Given the description of an element on the screen output the (x, y) to click on. 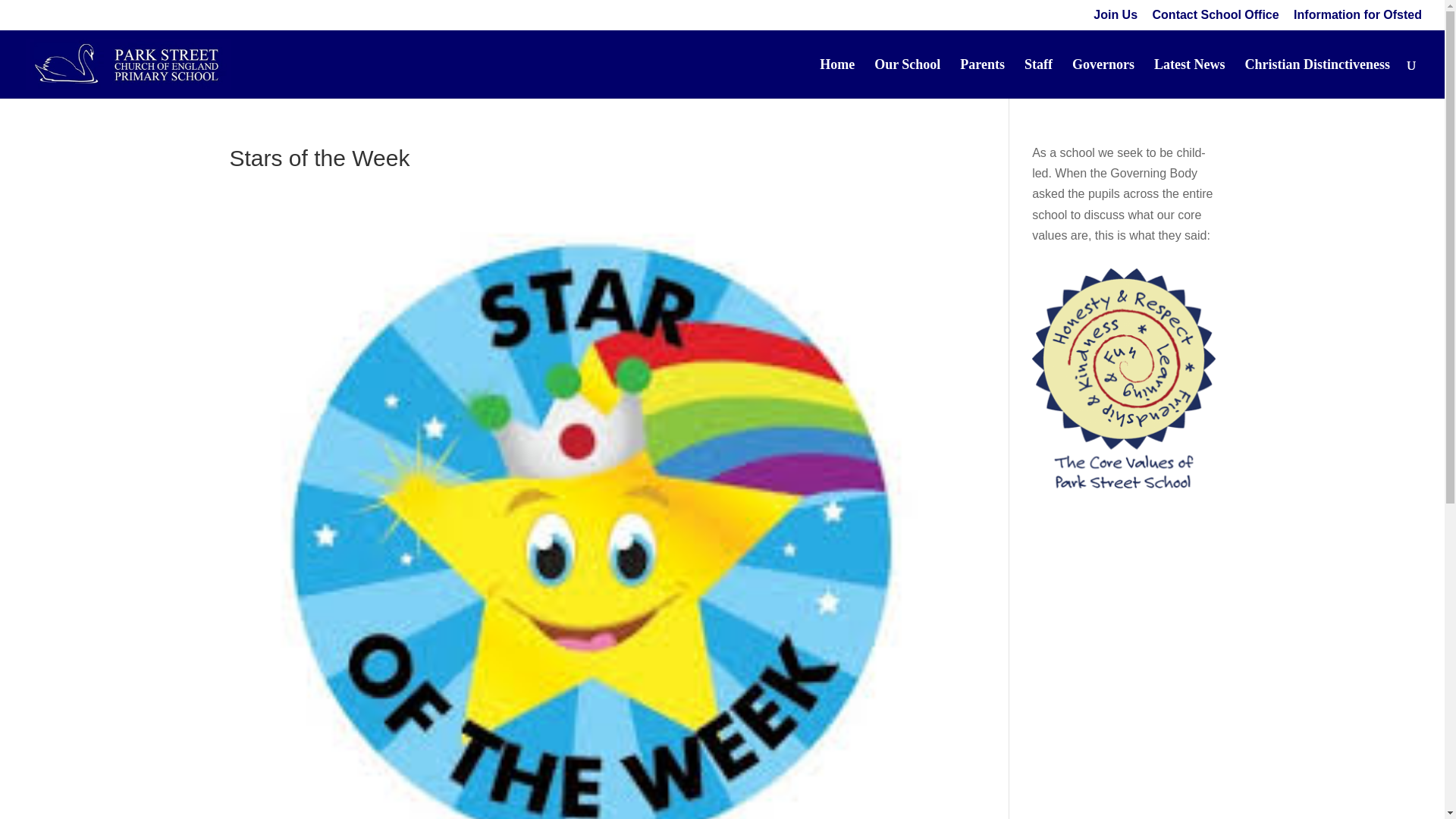
Join Us (1115, 19)
Parents (981, 78)
Information for Ofsted (1358, 19)
Christian Distinctiveness (1317, 78)
Governors (1102, 78)
Our School (907, 78)
Contact School Office (1216, 19)
Latest News (1189, 78)
